Given the description of an element on the screen output the (x, y) to click on. 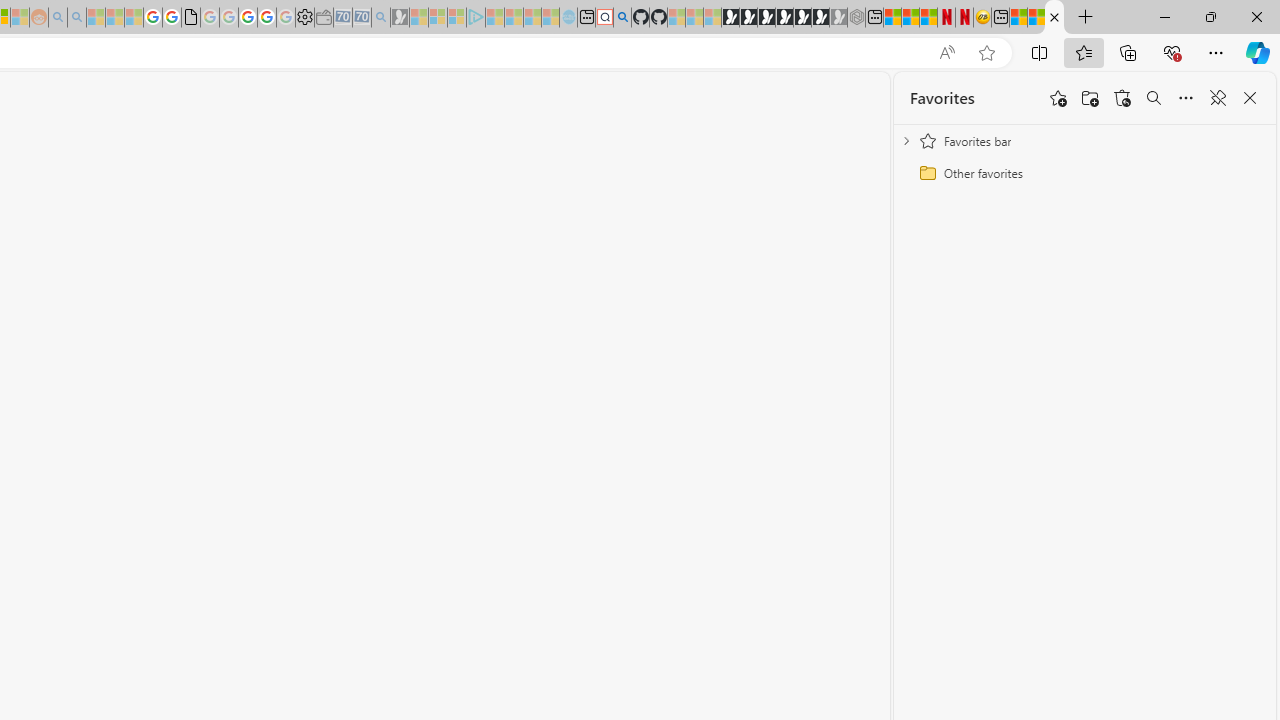
google_privacy_policy_zh-CN.pdf (190, 17)
Add folder (1089, 98)
Unpin favorites (1217, 98)
Microsoft Start Gaming - Sleeping (399, 17)
More options (1186, 98)
